Given the description of an element on the screen output the (x, y) to click on. 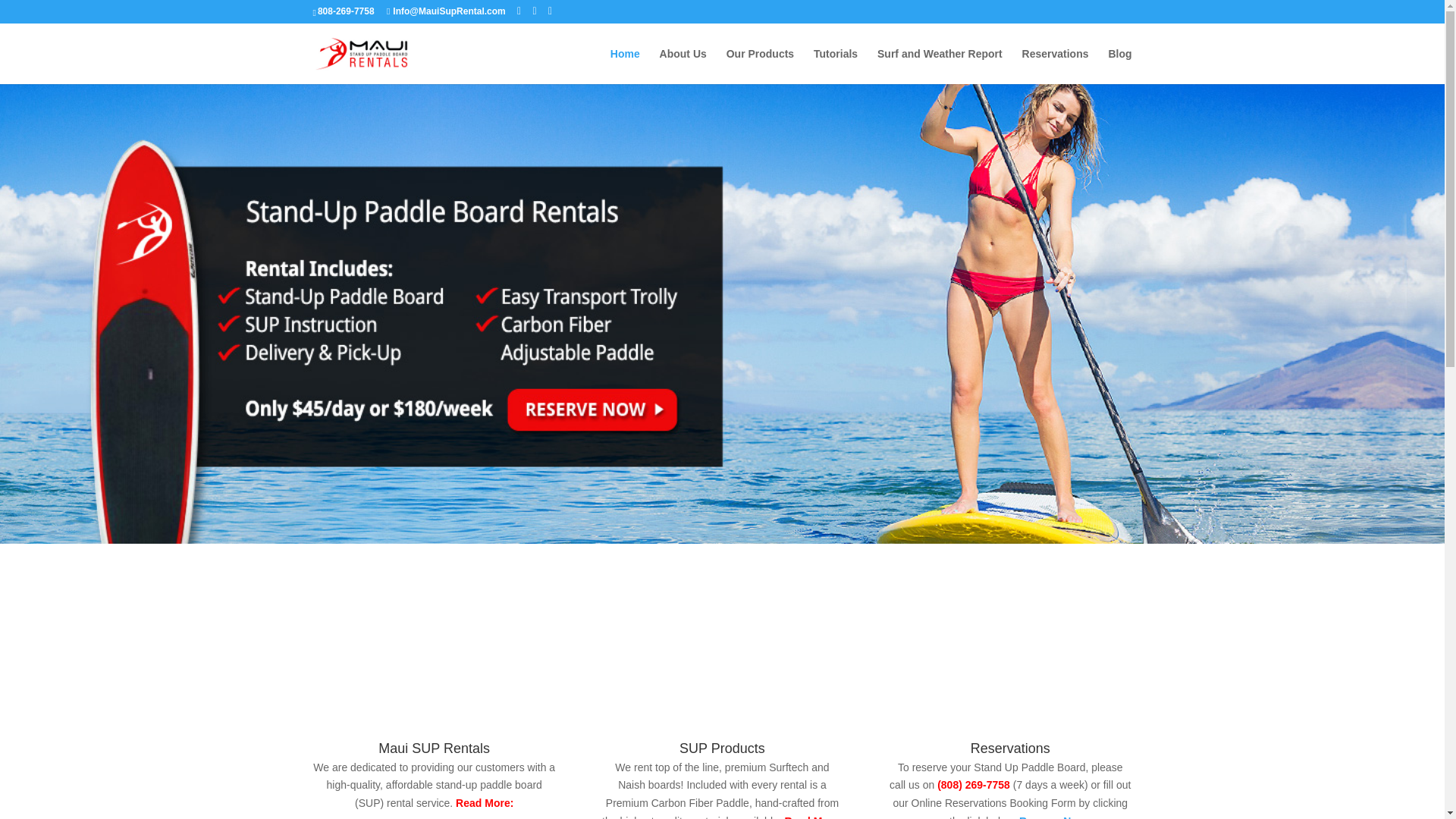
Read More (812, 816)
Maui SUP Rentals (433, 747)
Surf and Weather Report (940, 66)
About Us (682, 66)
Reservations (1055, 66)
Reserve Now (1052, 816)
Our Products (759, 66)
SUP Products (722, 747)
Tutorials (835, 66)
Reservations (1055, 66)
Read More: (482, 802)
Tutorials (835, 66)
